Given the description of an element on the screen output the (x, y) to click on. 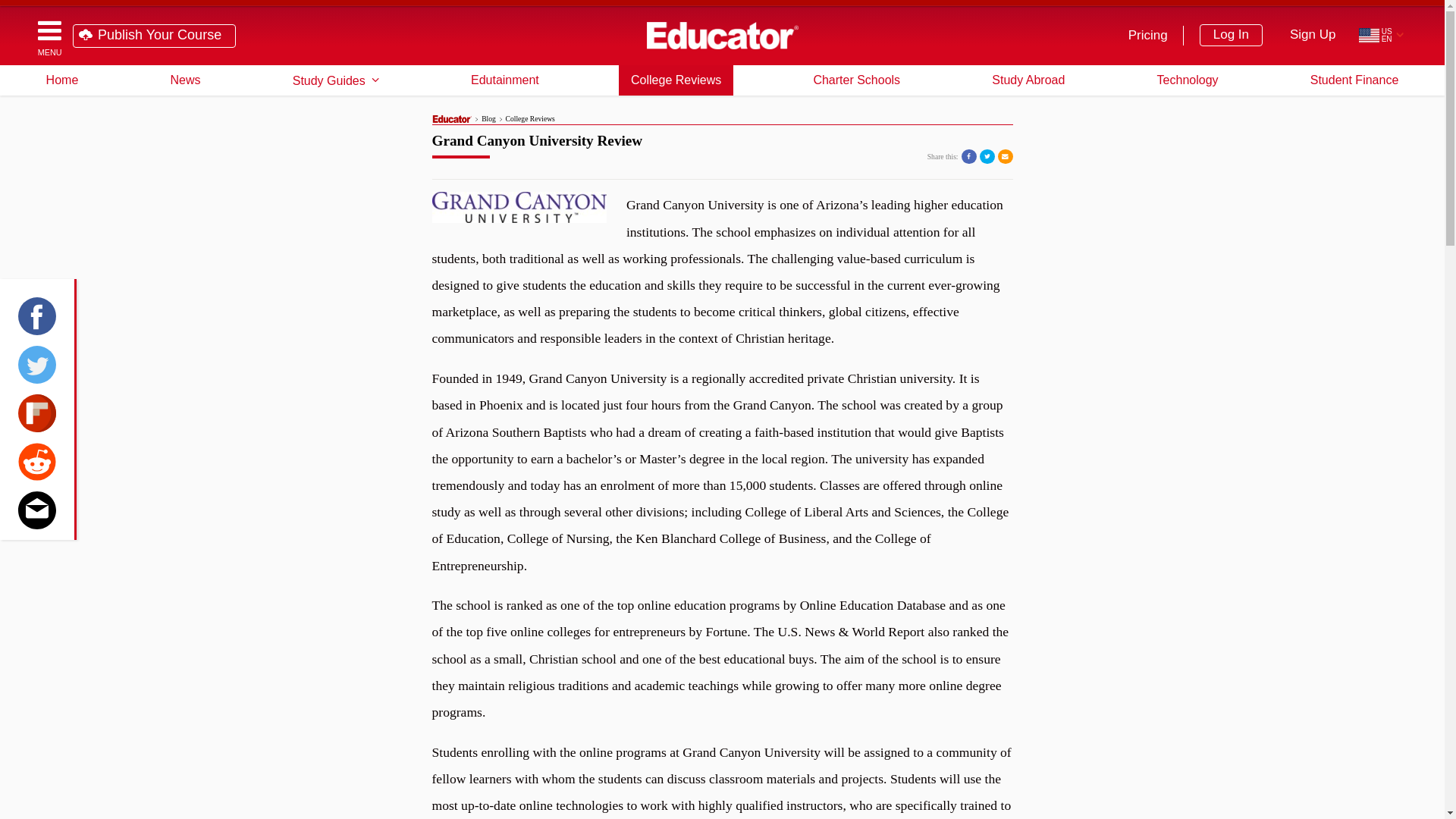
Sign Up (1312, 35)
Reddit logo (36, 461)
Log In (1230, 34)
Educator (721, 35)
Pricing (1150, 35)
Publish Your Course (153, 35)
